Given the description of an element on the screen output the (x, y) to click on. 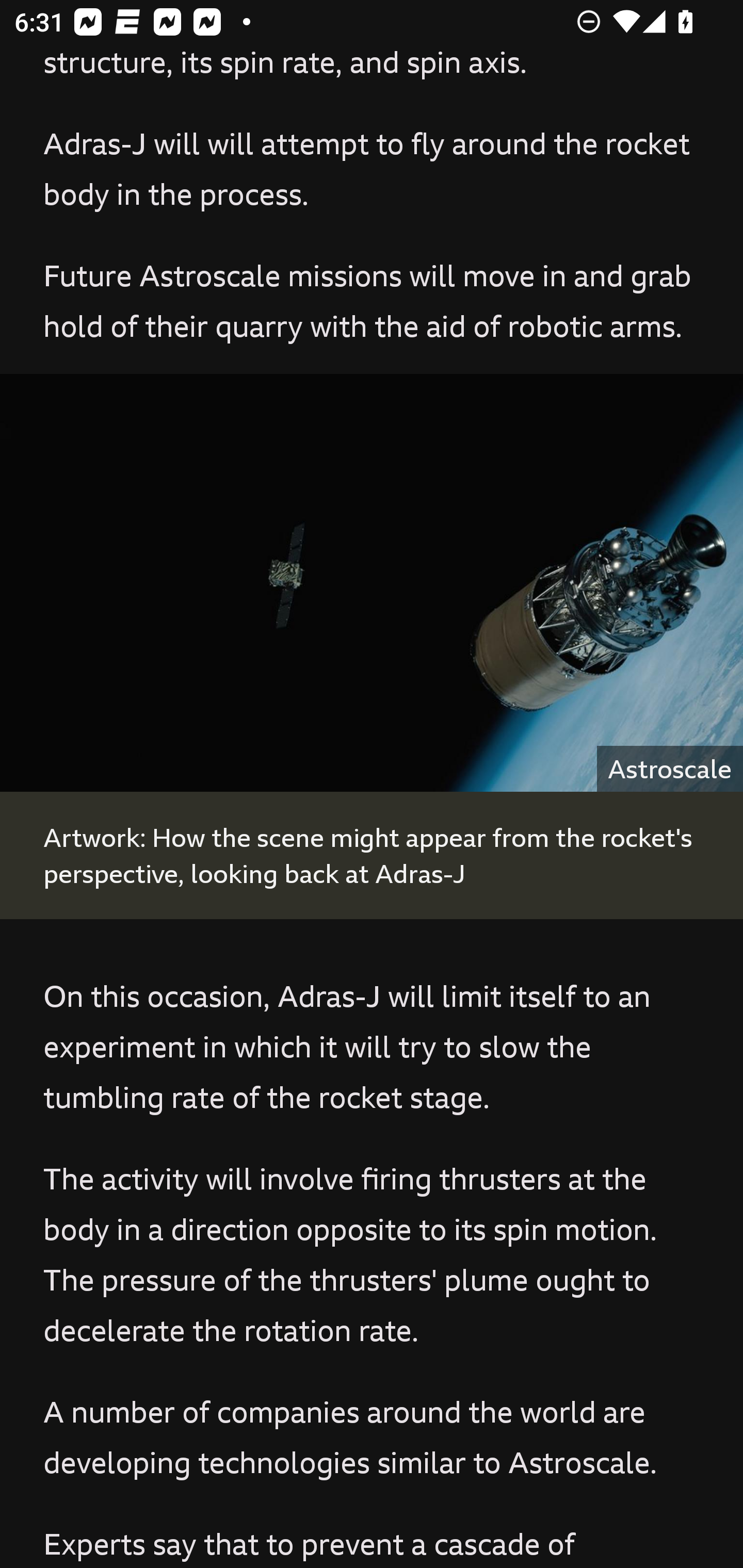
Artwork of rendezvous (371, 582)
